Given the description of an element on the screen output the (x, y) to click on. 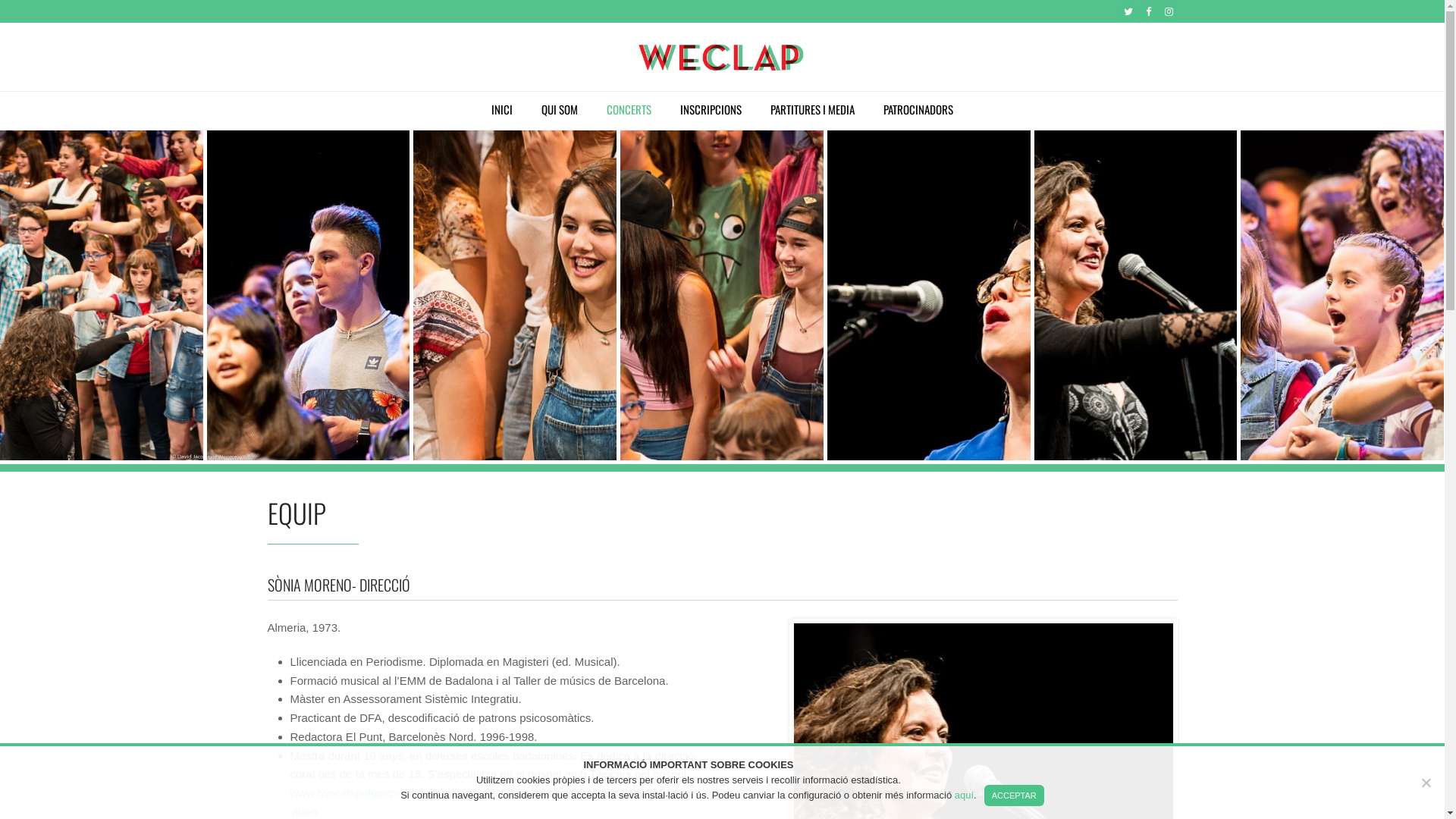
www.twocatspelgospel.com Element type: text (358, 792)
INICI Element type: text (501, 110)
Veure video Element type: text (492, 802)
Instagram Element type: text (1168, 11)
PARTITURES I MEDIA Element type: text (812, 110)
QUI SOM Element type: text (559, 110)
Twitter Element type: text (1127, 11)
PATROCINADORS Element type: text (918, 110)
CONCERTS Element type: text (628, 110)
INSCRIPCIONS Element type: text (710, 110)
ACCEPTAR Element type: text (1014, 795)
Facebook Element type: text (1148, 11)
